Given the description of an element on the screen output the (x, y) to click on. 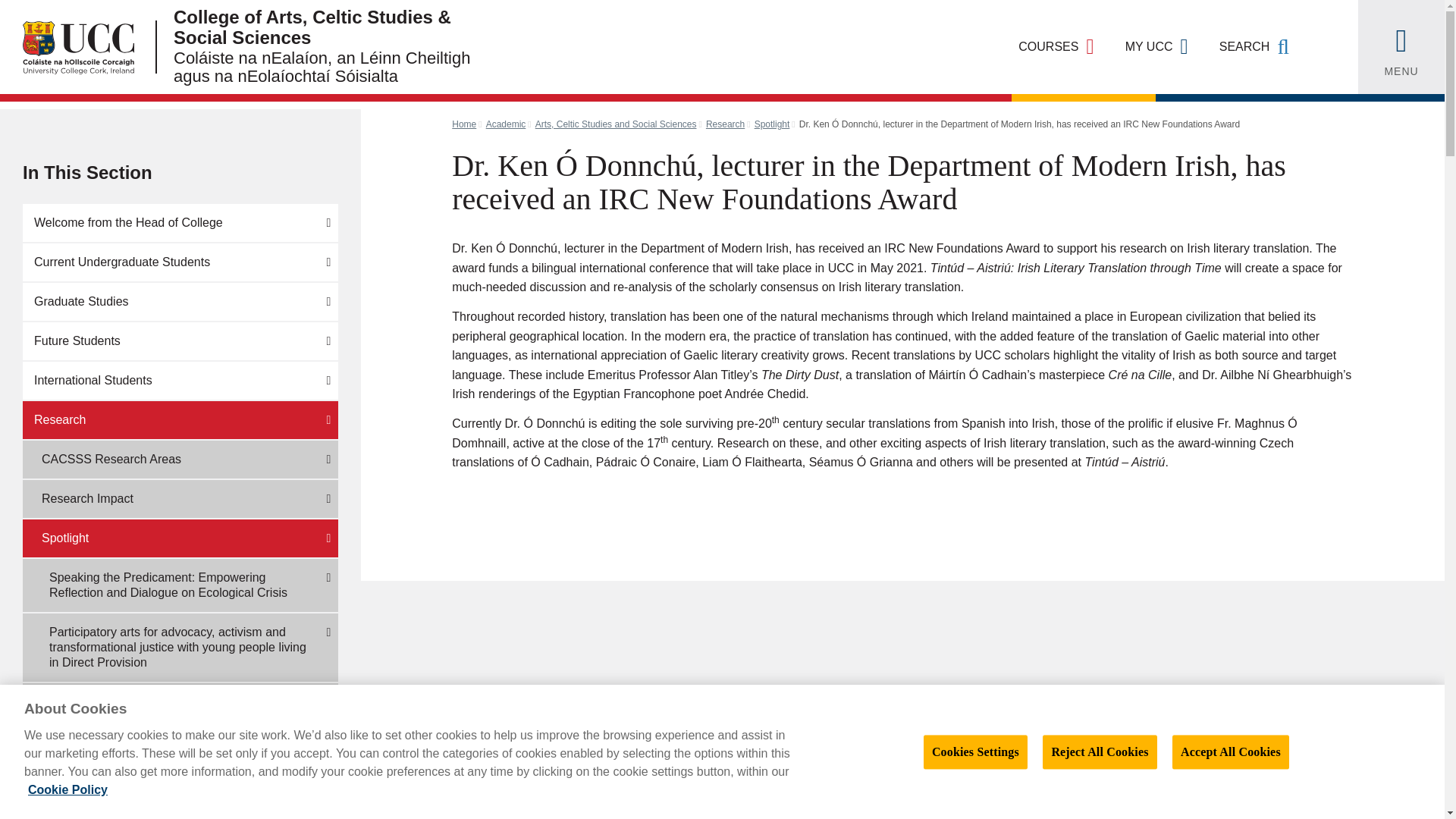
COURSES (1055, 47)
UCC University College Cork (66, 47)
SEARCH (1254, 47)
